Given the description of an element on the screen output the (x, y) to click on. 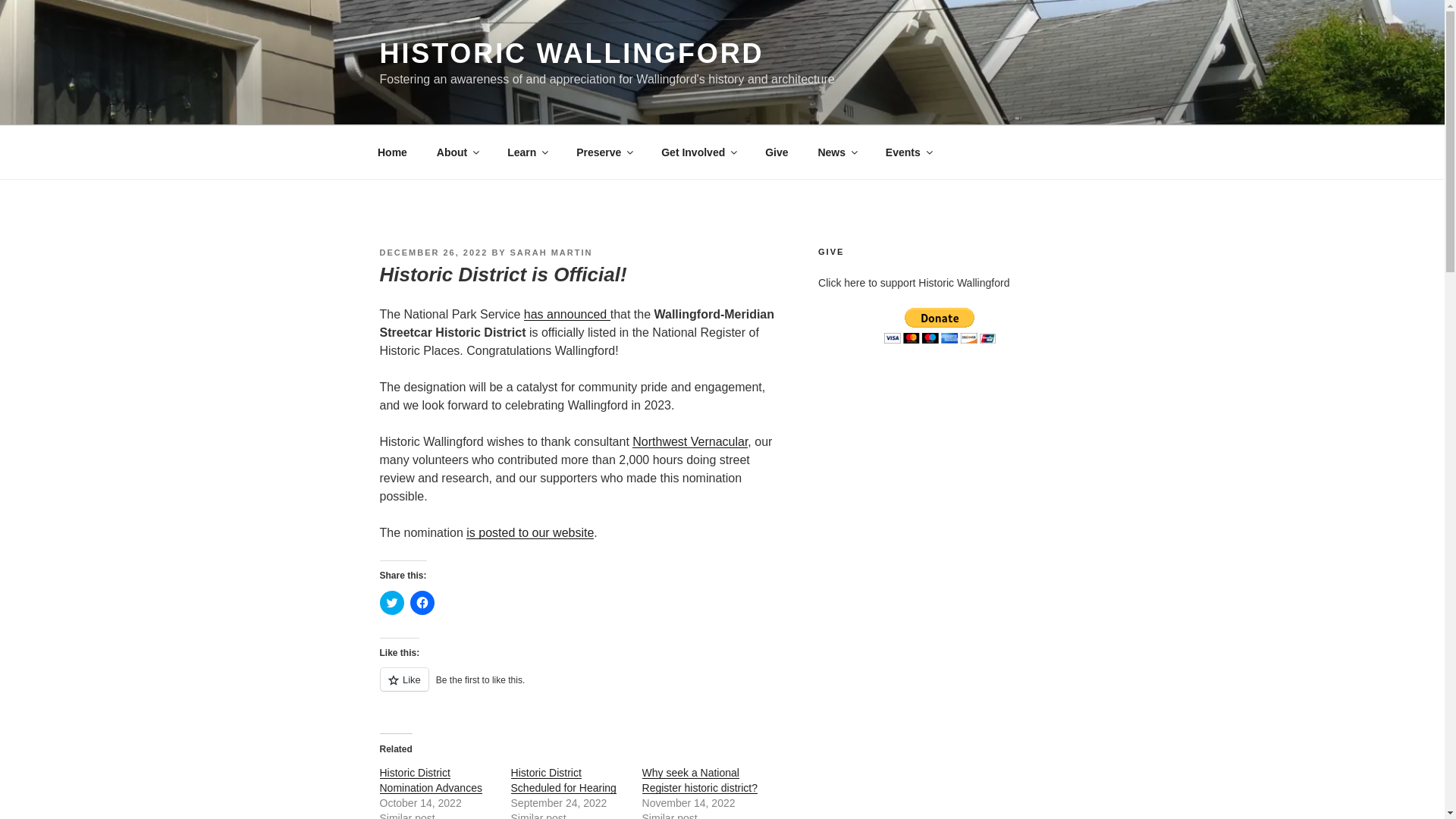
Home (392, 151)
Click to share on Twitter (390, 602)
HISTORIC WALLINGFORD (570, 52)
Click to share on Facebook (421, 602)
Learn (527, 151)
Get Involved (698, 151)
Historic District Scheduled for Hearing (563, 779)
About (456, 151)
Why seek a National Register historic district? (700, 779)
News (837, 151)
Give (777, 151)
Like or Reblog (577, 688)
Historic District Nomination Advances (429, 779)
Events (907, 151)
Preserve (604, 151)
